Given the description of an element on the screen output the (x, y) to click on. 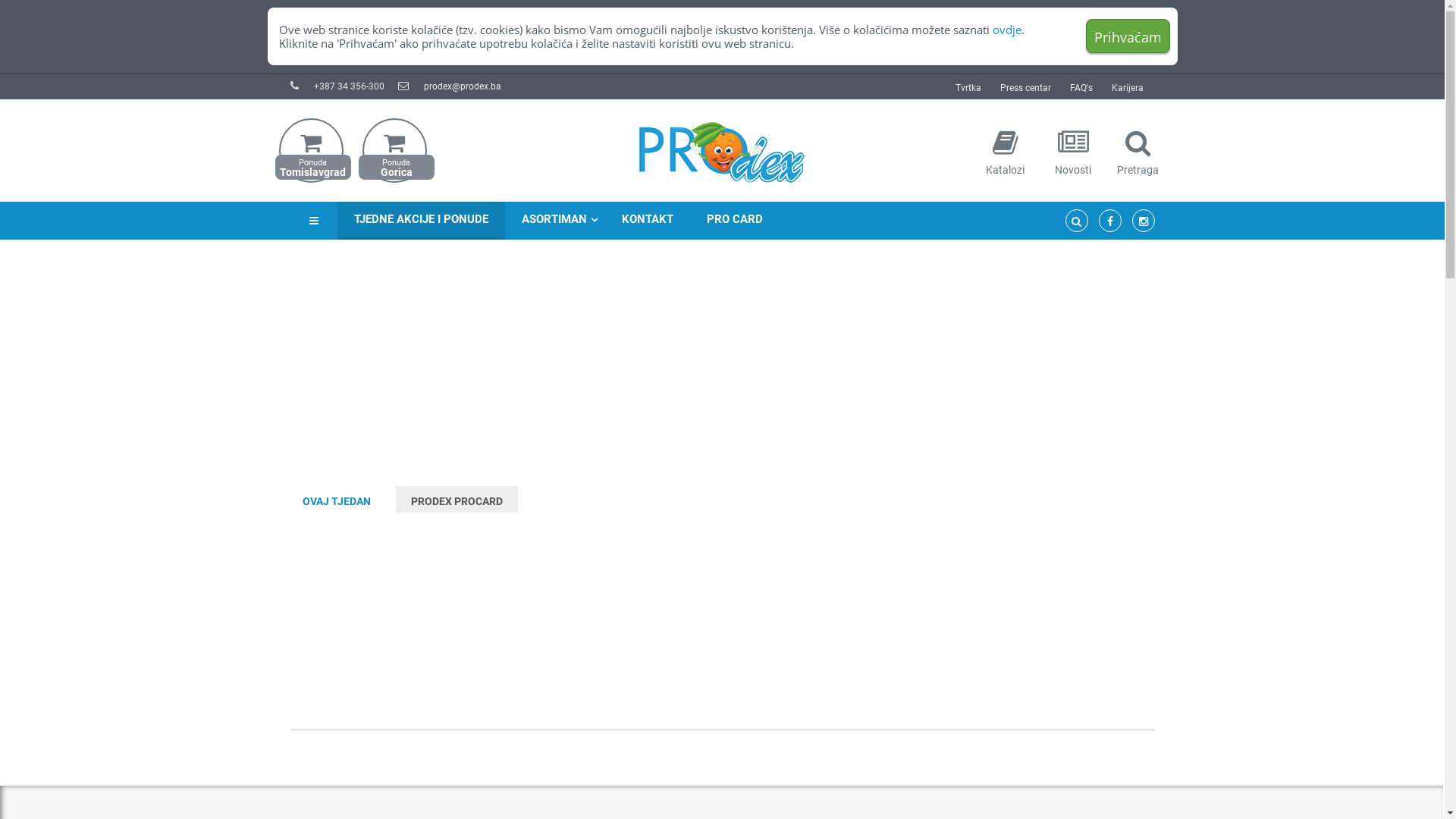
Pretraga Element type: text (1136, 153)
Novosti Element type: hover (1072, 142)
Karijera Element type: text (1127, 87)
Press centar Element type: text (1024, 87)
Tvrtka Element type: text (967, 87)
Katalozi Element type: hover (1003, 142)
Prodex store Element type: hover (721, 145)
Pretraga Element type: hover (1137, 142)
FAQ's Element type: text (1080, 87)
Katalozi Element type: text (1004, 153)
PRO CARD Element type: text (734, 220)
+387 34 356-300 Element type: text (349, 86)
prodex@prodex.ba Element type: text (461, 86)
ovdje Element type: text (1005, 29)
ASORTIMAN Element type: text (555, 220)
KONTAKT Element type: text (647, 220)
TJEDNE AKCIJE I PONUDE Element type: text (420, 220)
Novosti Element type: text (1072, 153)
